Given the description of an element on the screen output the (x, y) to click on. 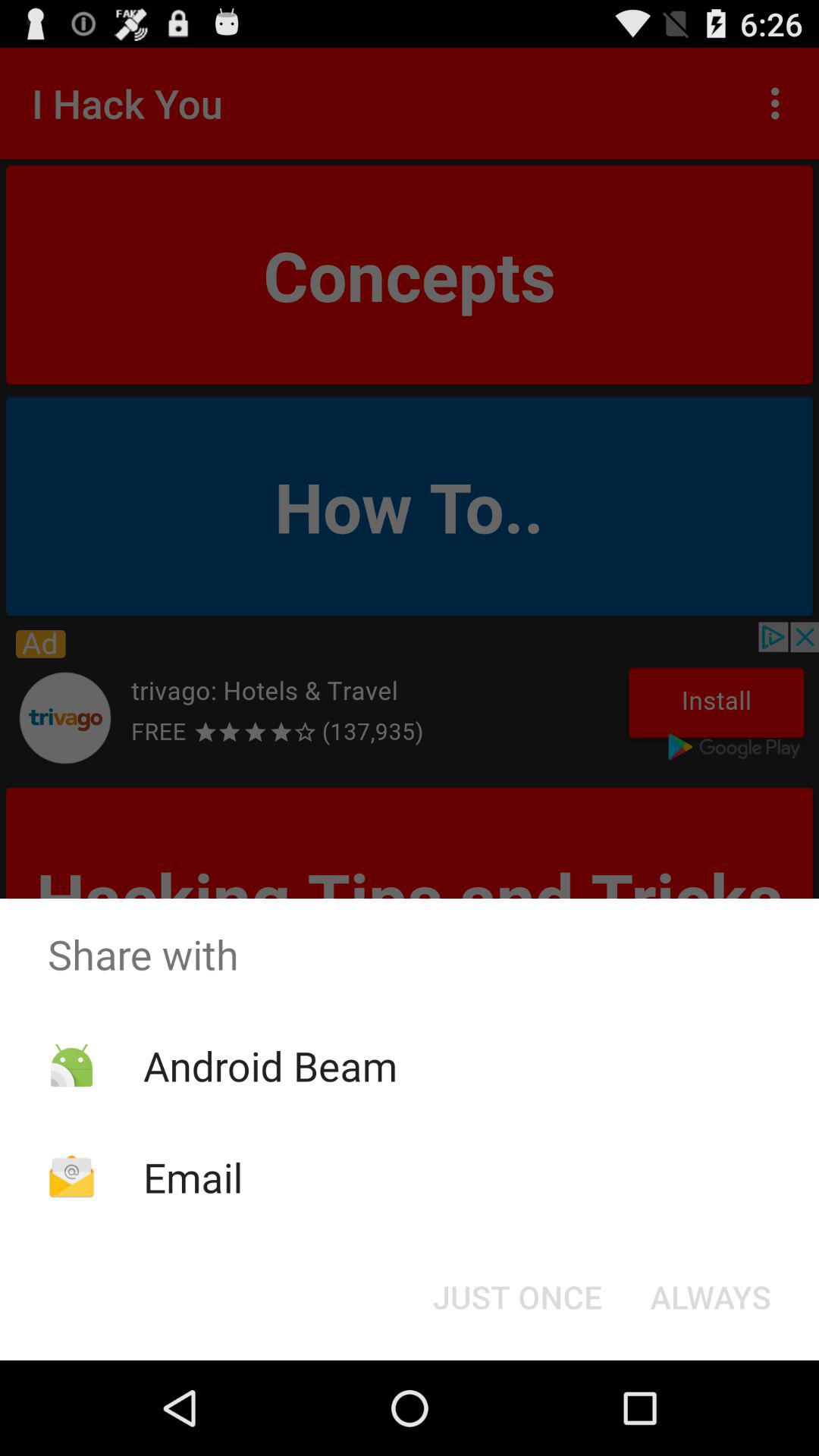
select icon at the bottom (517, 1296)
